Given the description of an element on the screen output the (x, y) to click on. 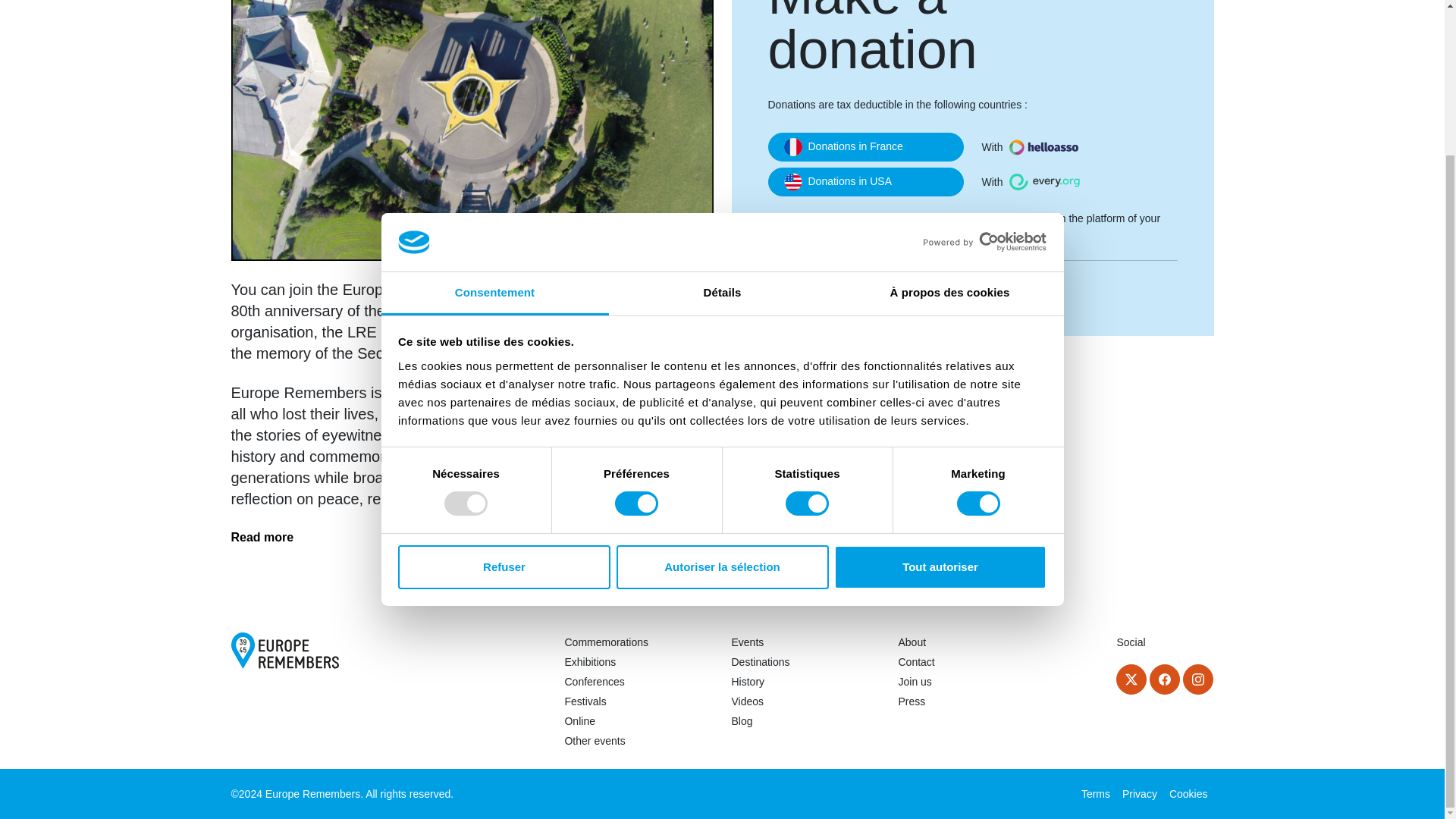
Consentement (494, 112)
Refuser (503, 385)
